Given the description of an element on the screen output the (x, y) to click on. 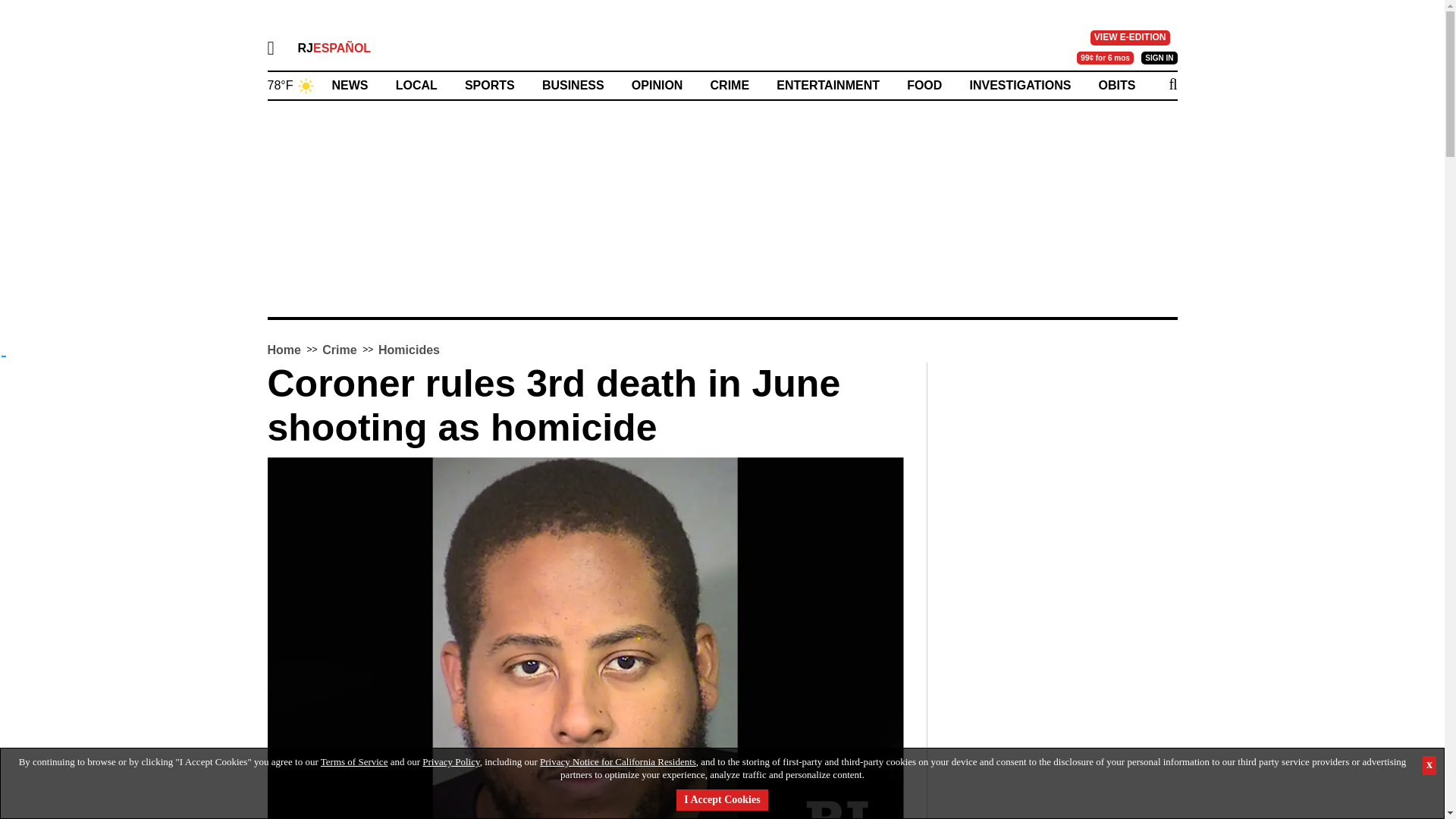
NEWS (349, 84)
FOOD (924, 84)
VIEW E-EDITION (1130, 37)
CRIME (729, 84)
Weather Forecast (290, 83)
SIGN IN (1158, 58)
SPORTS (489, 84)
LOCAL (417, 84)
ENTERTAINMENT (827, 84)
